Given the description of an element on the screen output the (x, y) to click on. 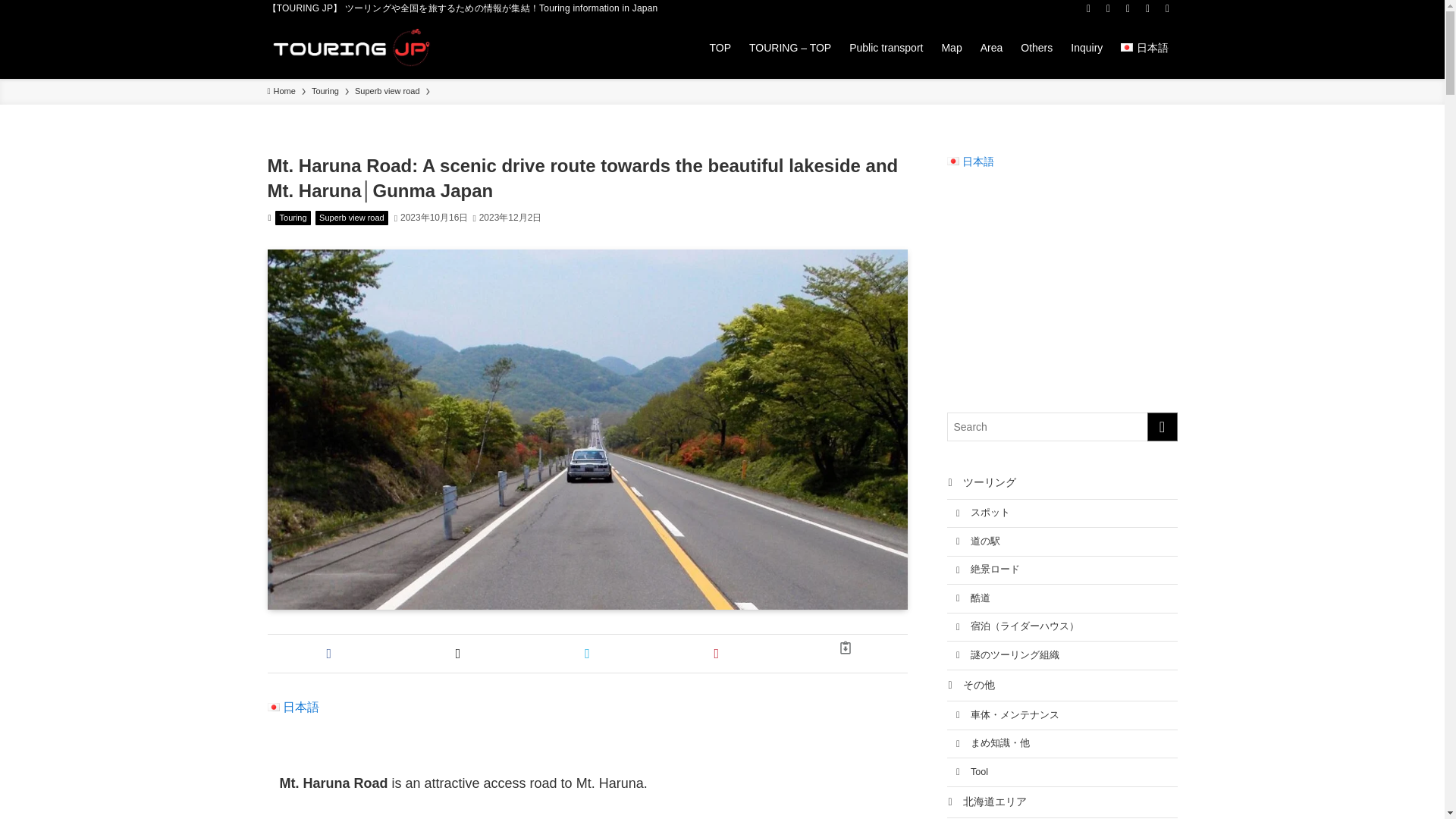
Save pin (716, 653)
Share on Facebook (328, 653)
Copy the URL (845, 647)
Register in Hatena Bookmark (586, 653)
